Given the description of an element on the screen output the (x, y) to click on. 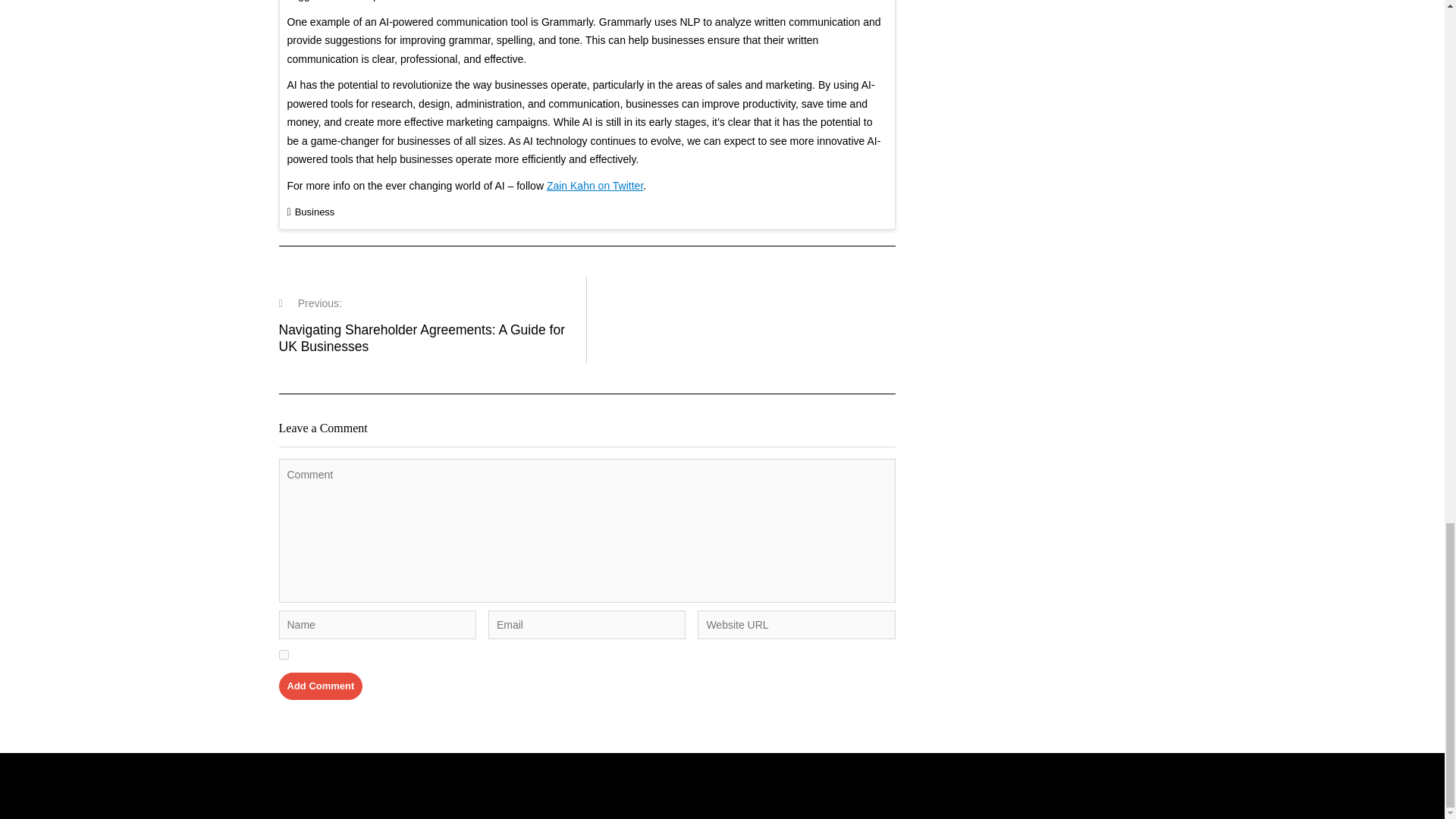
yes (283, 655)
Business (314, 211)
Add Comment (320, 686)
Add Comment (320, 686)
Zain Kahn on Twitter (595, 185)
